Given the description of an element on the screen output the (x, y) to click on. 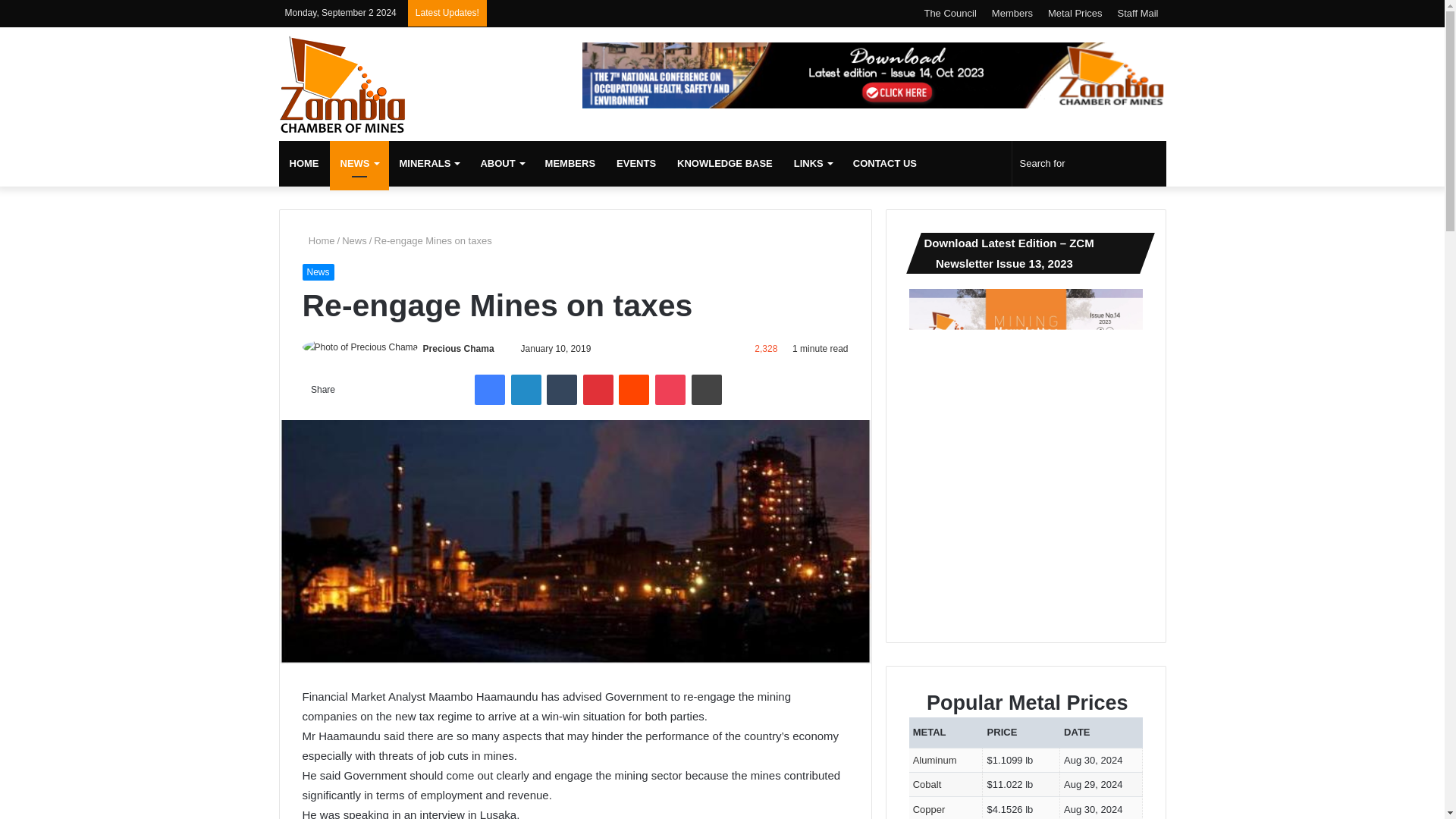
MEMBERS (569, 163)
Members (1012, 13)
Zambia Chamber of Mines (342, 84)
KNOWLEDGE BASE (724, 163)
The Council (949, 13)
ABOUT (501, 163)
Reddit (633, 389)
Precious Chama (459, 348)
Print (706, 389)
Tumblr (561, 389)
